Given the description of an element on the screen output the (x, y) to click on. 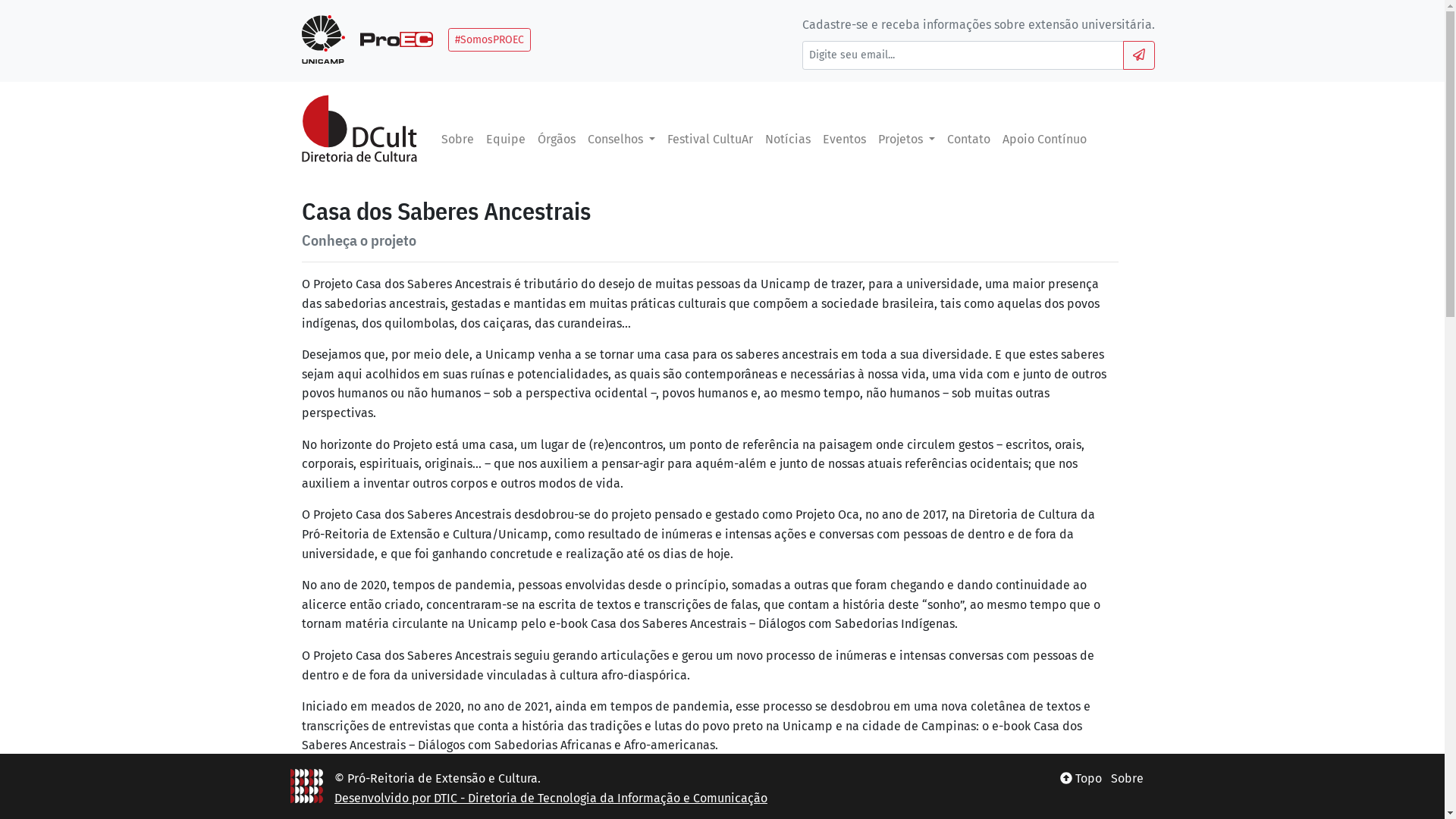
Contato Element type: text (968, 139)
Projetos Element type: text (906, 139)
Topo Element type: text (1080, 778)
Conselhos Element type: text (620, 139)
#SomosPROEC Element type: text (489, 38)
Sobre Element type: text (1126, 778)
Equipe Element type: text (504, 139)
Sobre Element type: text (457, 139)
Festival CultuAr Element type: text (710, 139)
Eventos Element type: text (844, 139)
